Given the description of an element on the screen output the (x, y) to click on. 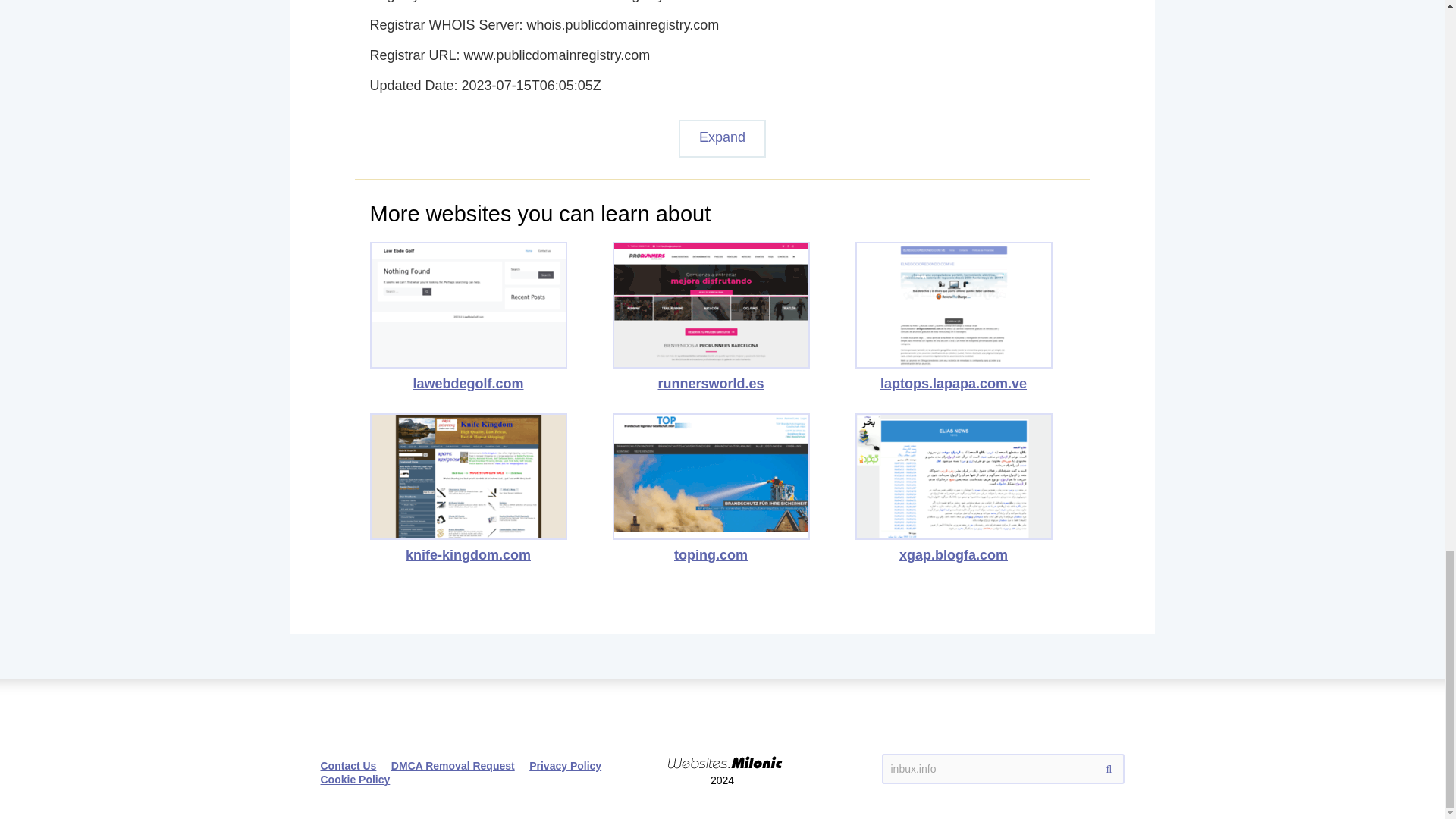
knife-kingdom.com (468, 488)
Expand (721, 138)
lawebdegolf.com (468, 316)
laptops.lapapa.com.ve (954, 316)
xgap.blogfa.com (954, 488)
toping.com (710, 488)
Cookie Policy (355, 779)
Privacy Policy (565, 766)
inbux.info (1002, 768)
DMCA Removal Request (453, 766)
Contact Us (347, 766)
runnersworld.es (710, 316)
2024 (721, 750)
